Given the description of an element on the screen output the (x, y) to click on. 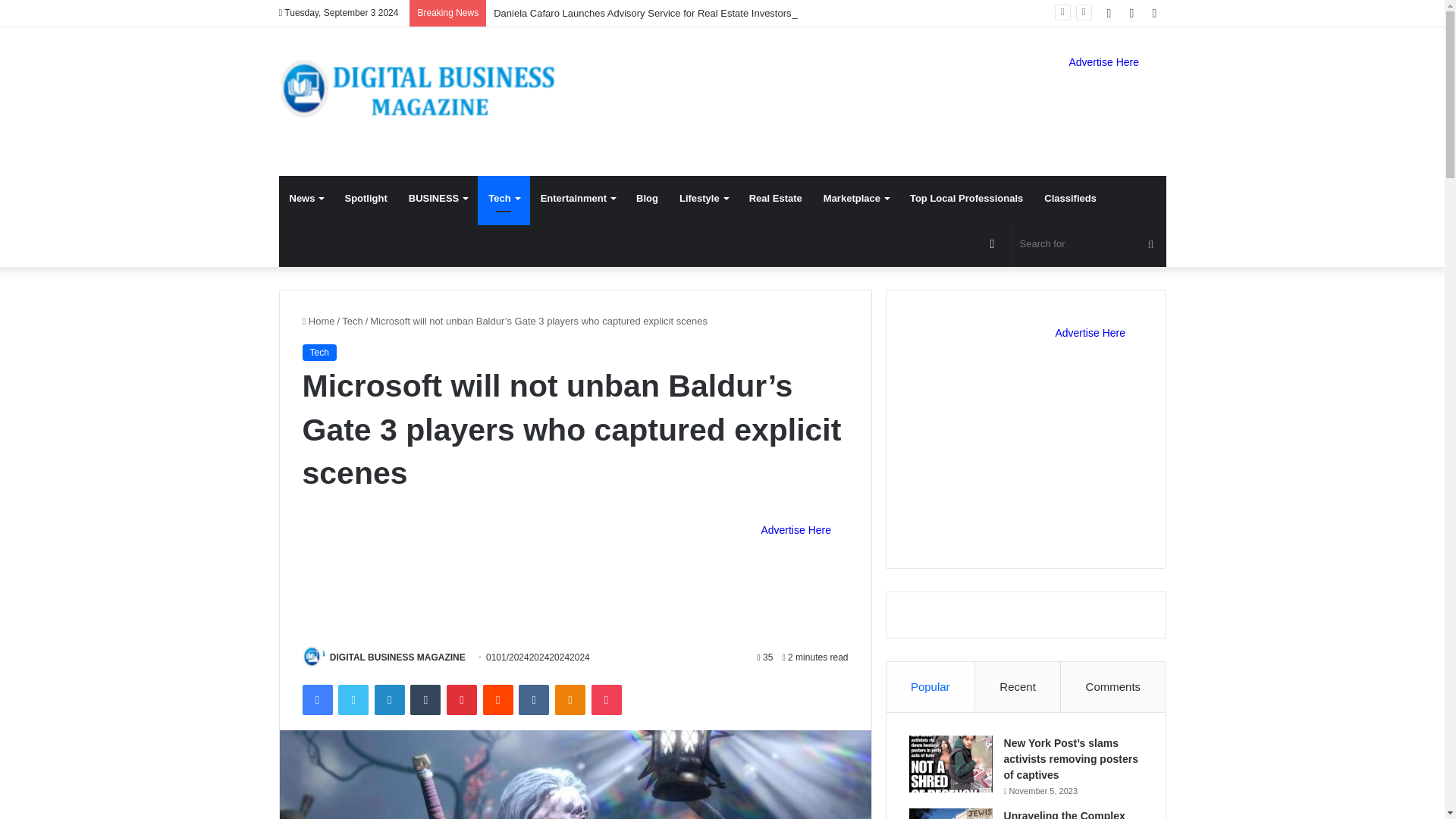
Facebook (316, 699)
Reddit (498, 699)
Odnoklassniki (569, 699)
Tech (503, 198)
DIGITAL BUSINESS MAGAZINE (397, 656)
Pinterest (461, 699)
BUSINESS (437, 198)
Lifestyle (703, 198)
News (306, 198)
LinkedIn (389, 699)
